Given the description of an element on the screen output the (x, y) to click on. 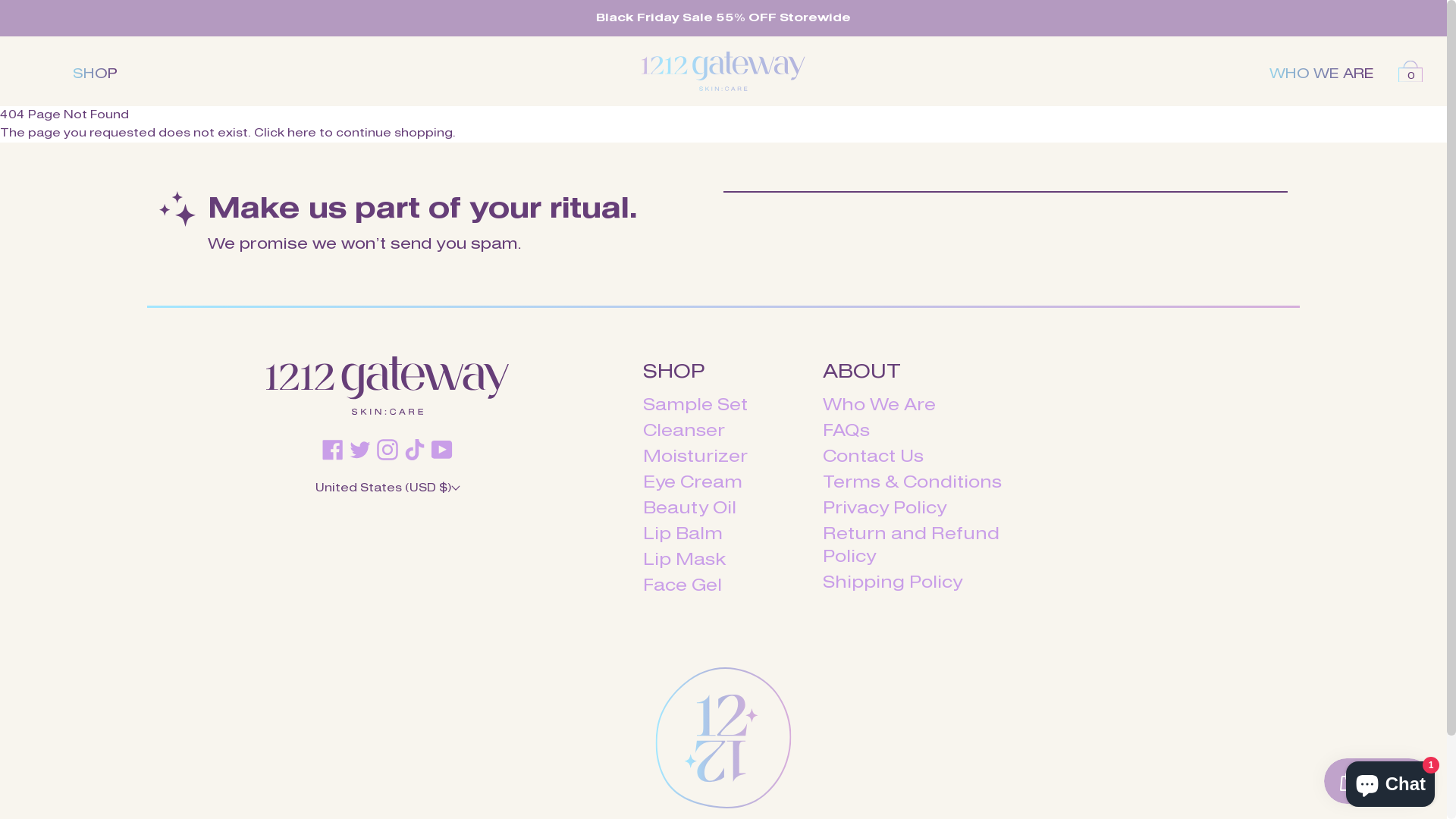
Contact Us Element type: text (872, 457)
Smile.io Rewards Program Launcher Element type: hover (1377, 780)
Sample Set Element type: text (695, 406)
Terms & Conditions Element type: text (911, 483)
Cleanser Element type: text (683, 431)
Twitter Element type: text (359, 449)
FAQs Element type: text (845, 431)
WHO WE ARE Element type: text (1321, 73)
Who We Are Element type: text (878, 406)
Privacy Policy Element type: text (884, 509)
TikTok Element type: text (414, 449)
Eye Cream Element type: text (692, 483)
Lip Mask Element type: text (684, 560)
Shopify online store chat Element type: hover (1390, 780)
Shipping Policy Element type: text (892, 583)
United States (USD $) Element type: text (387, 488)
Face Gel Element type: text (682, 586)
Instagram Element type: text (387, 449)
Moisturizer Element type: text (695, 457)
Lip Balm Element type: text (682, 534)
Beauty Oil Element type: text (689, 509)
Return and Refund Policy Element type: text (910, 546)
here Element type: text (301, 133)
YouTube Element type: text (441, 449)
0 Element type: text (1410, 71)
SHOP Element type: text (94, 73)
Facebook Element type: text (332, 449)
